Given the description of an element on the screen output the (x, y) to click on. 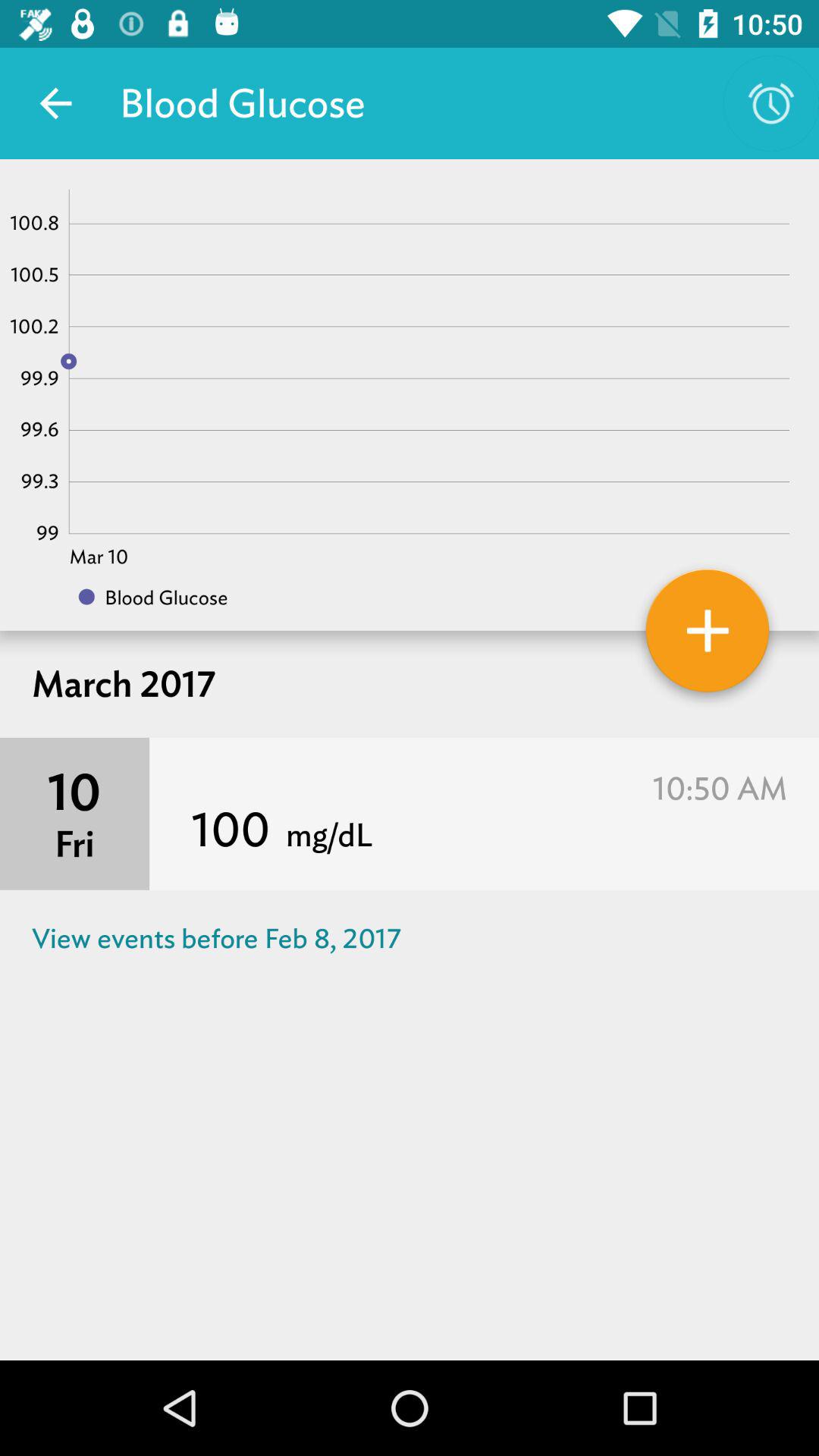
select app next to blood glucose app (771, 103)
